Given the description of an element on the screen output the (x, y) to click on. 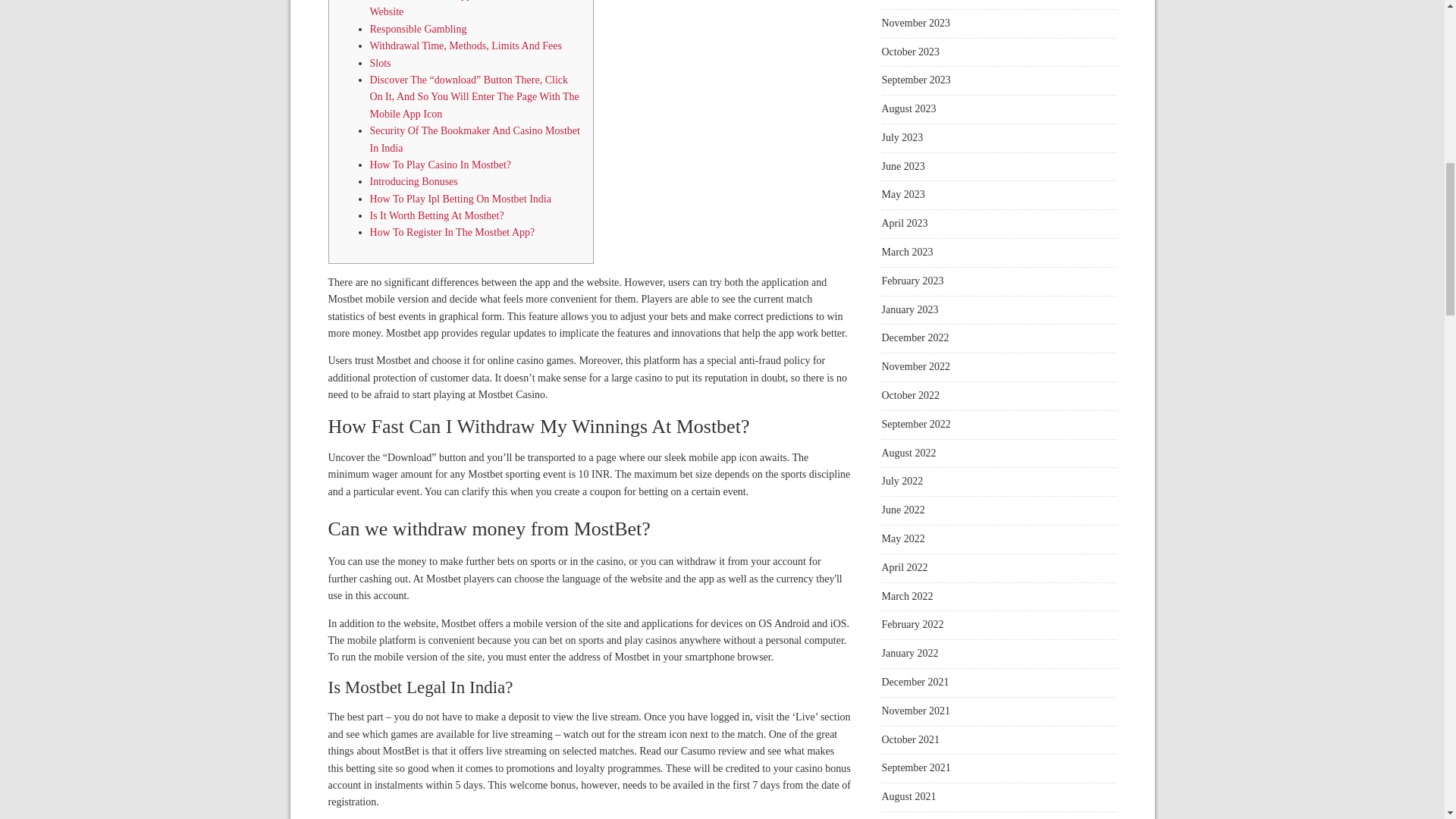
Slots (380, 62)
Security Of The Bookmaker And Casino Mostbet In India (474, 139)
Introducing Bonuses (413, 181)
Is It Worth Betting At Mostbet? (436, 215)
How To Play Casino In Mostbet? (440, 164)
How To Play Ipl Betting On Mostbet India (460, 198)
Responsible Gambling (418, 29)
How To Register In The Mostbet App? (452, 232)
Withdrawal Time, Methods, Limits And Fees (465, 45)
Download Mostbet App From The Official Website (460, 8)
